Given the description of an element on the screen output the (x, y) to click on. 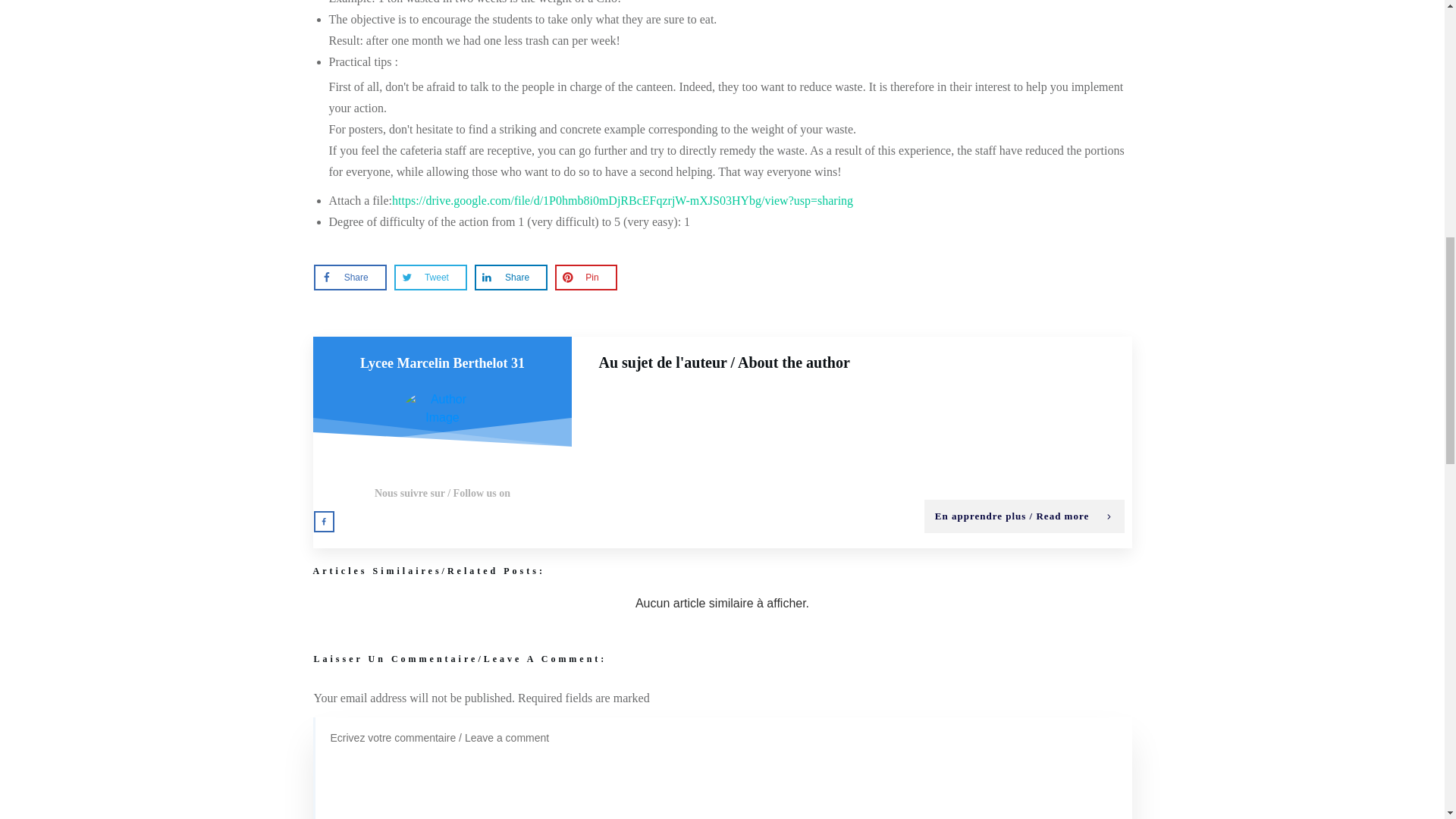
Share (350, 277)
Pin (585, 277)
Share (511, 277)
Tweet (430, 277)
